Given the description of an element on the screen output the (x, y) to click on. 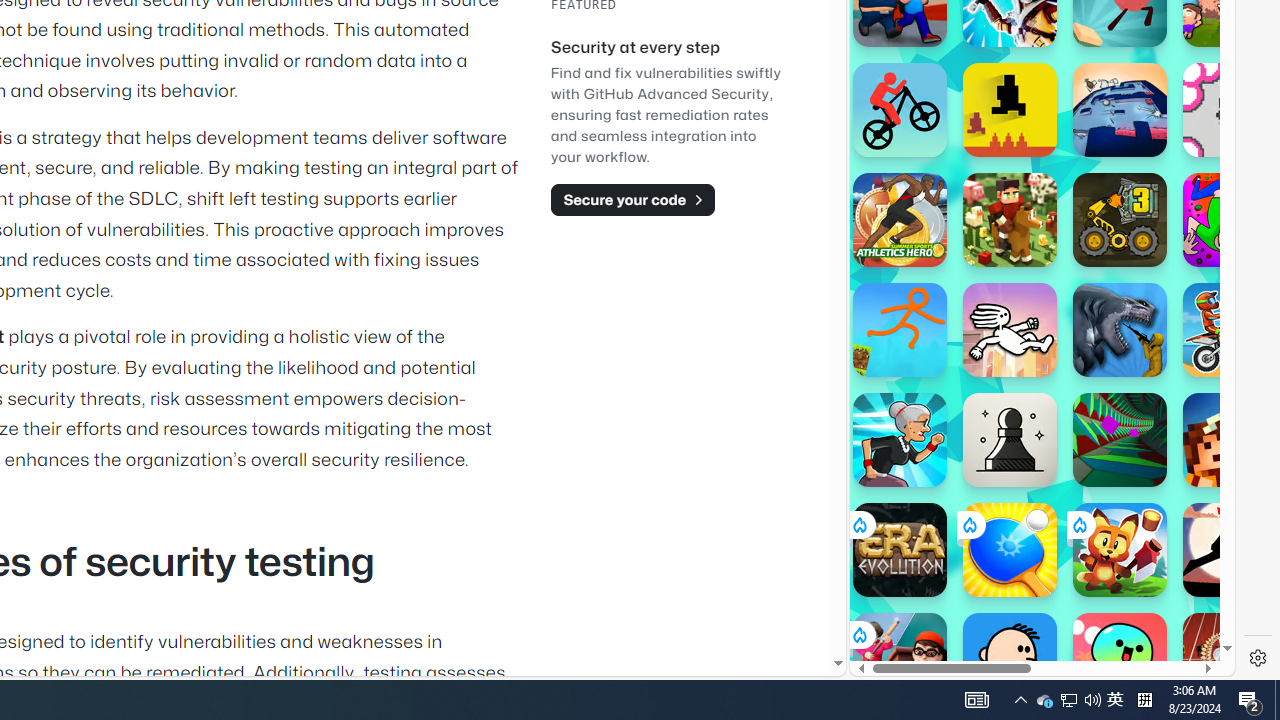
Lurkers.io (1229, 439)
Tunnel Rush (1119, 439)
Combat Reloaded Combat Reloaded poki.com (1092, 245)
100 Metres Race 100 Metres Race (1229, 659)
Lurkers.io Lurkers.io (1229, 439)
poki.com (1092, 338)
Class: rCs5cyEiqiTpYvt_VBCR (858, 634)
Angry Gran Run Angry Gran Run (899, 439)
Athletics Hero Athletics Hero (899, 219)
100 Metres Race (1229, 659)
Into the Pit Into the Pit (1229, 109)
Level Devil Level Devil (1009, 109)
Apple Knight: Farmers Market Apple Knight: Farmers Market (1009, 219)
Era: Evolution (899, 549)
